Given the description of an element on the screen output the (x, y) to click on. 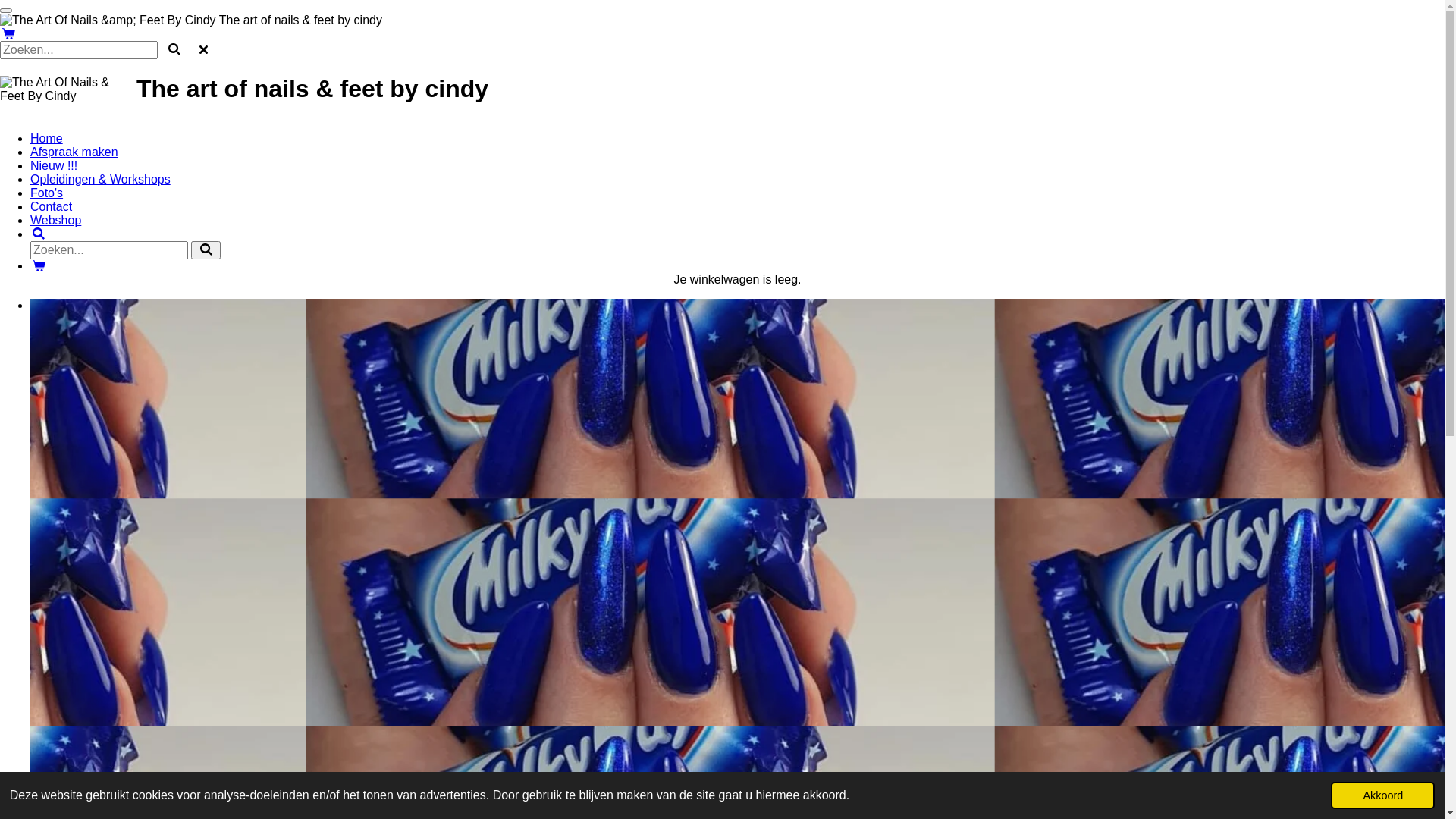
Foto's Element type: text (46, 192)
Opleidingen & Workshops Element type: text (100, 178)
Home Element type: text (46, 137)
The Art Of Nails & Feet By Cindy Element type: hover (68, 89)
Webshop Element type: text (55, 219)
Nieuw !!! Element type: text (53, 165)
Akkoord Element type: text (1382, 795)
Zoeken Element type: hover (38, 233)
The Art Of Nails &amp; Feet By Cindy Element type: hover (108, 20)
Afspraak maken Element type: text (74, 151)
Bekijk winkelwagen Element type: hover (38, 265)
Contact Element type: text (51, 206)
